Given the description of an element on the screen output the (x, y) to click on. 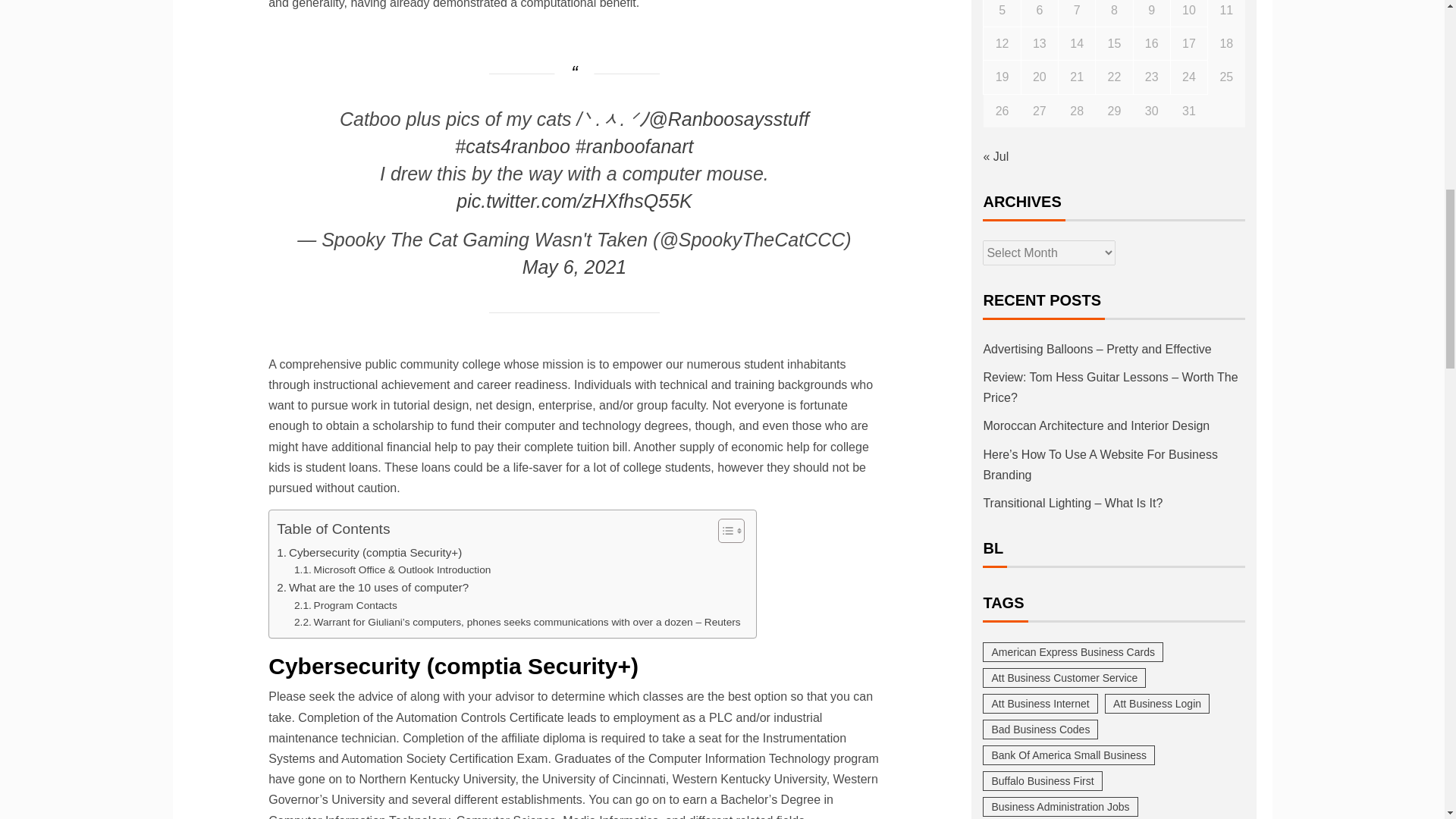
Program Contacts (345, 605)
Program Contacts (345, 605)
May 6, 2021 (574, 266)
What are the 10 uses of computer? (372, 587)
What are the 10 uses of computer? (372, 587)
